Given the description of an element on the screen output the (x, y) to click on. 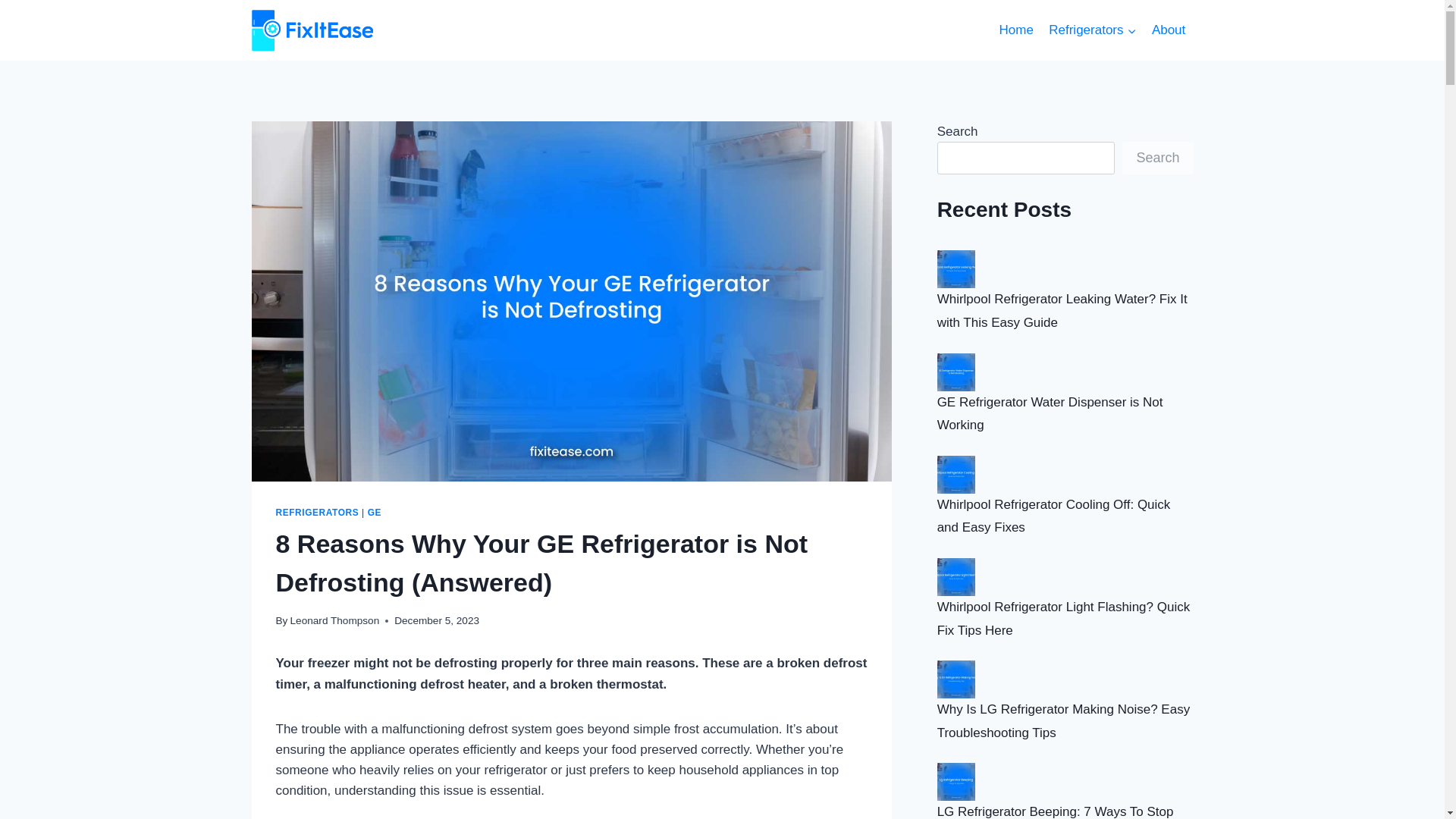
REFRIGERATORS (317, 511)
Leonard Thompson (334, 620)
Refrigerators (1092, 30)
About (1168, 30)
GE (374, 511)
Home (1016, 30)
